Given the description of an element on the screen output the (x, y) to click on. 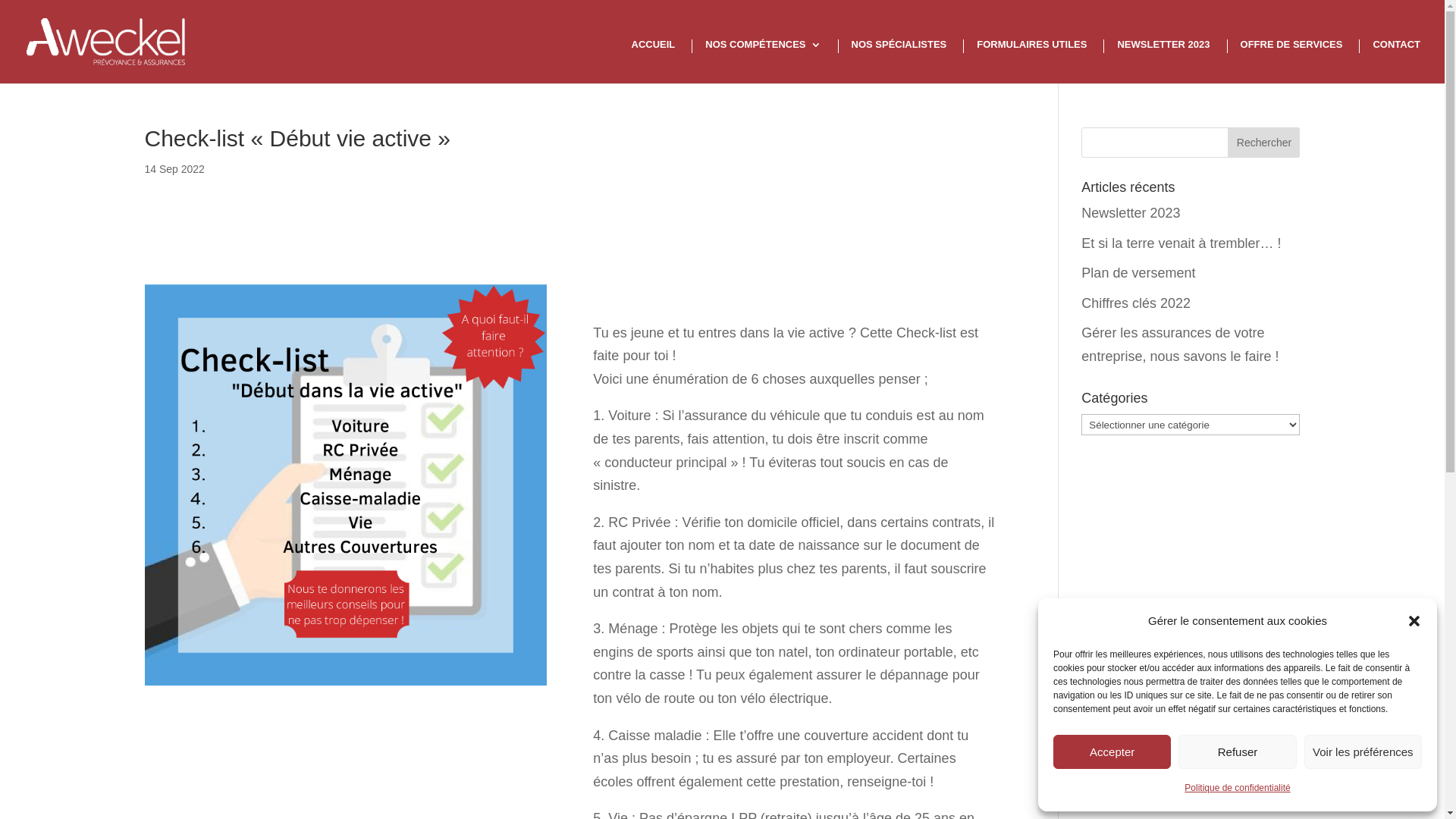
FORMULAIRES UTILES Element type: text (1026, 46)
ACCUEIL Element type: text (648, 46)
Accepter Element type: text (1111, 751)
NEWSLETTER 2023 Element type: text (1158, 46)
Plan de versement Element type: text (1138, 272)
CONTACT Element type: text (1391, 46)
Newsletter 2023 Element type: text (1130, 212)
Rechercher Element type: text (1263, 142)
OFFRE DE SERVICES Element type: text (1287, 46)
Refuser Element type: text (1236, 751)
